Given the description of an element on the screen output the (x, y) to click on. 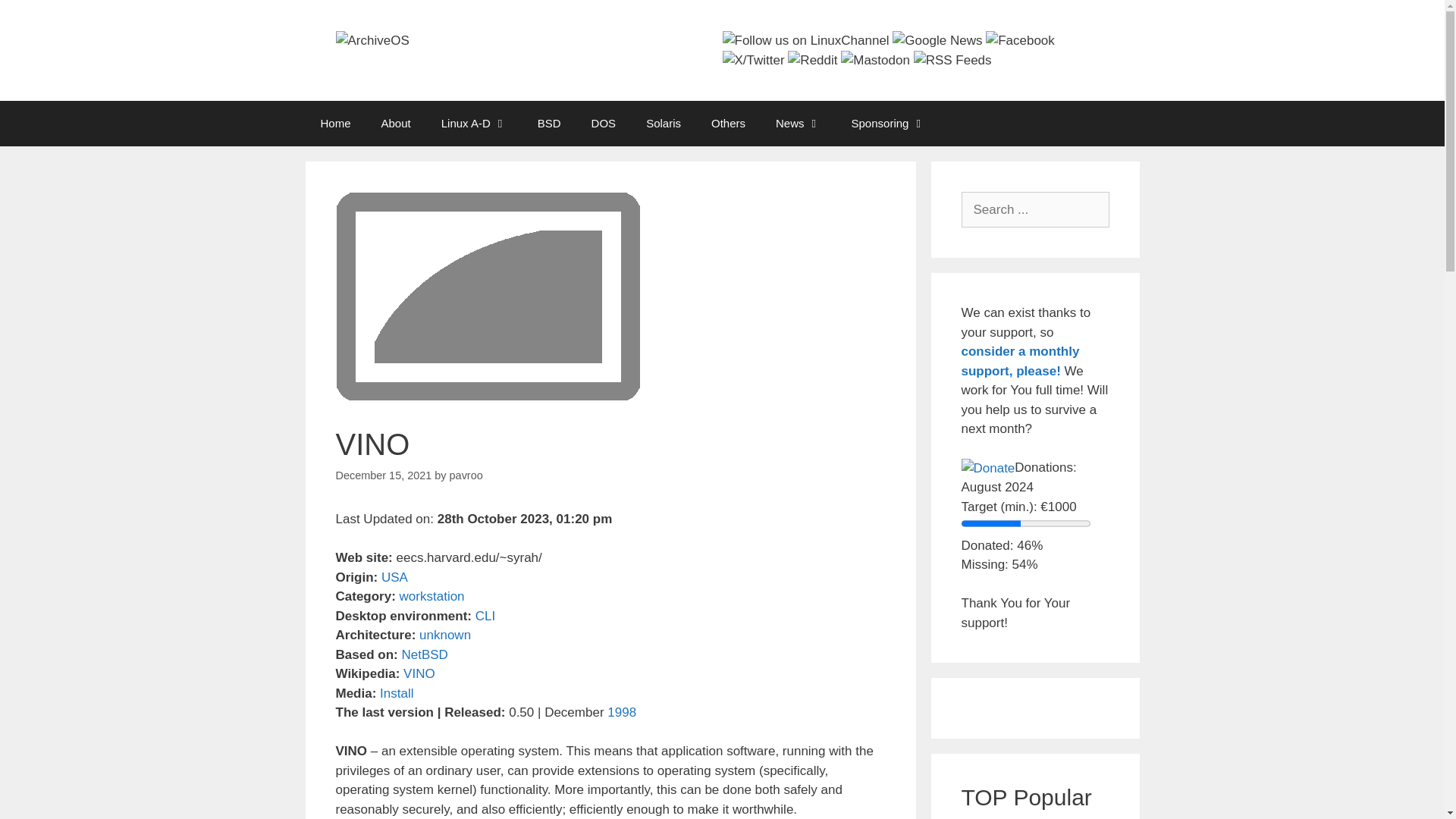
pavroo (466, 475)
DOS (603, 123)
Others (727, 123)
DOS (603, 123)
Google News (936, 40)
Home (334, 123)
BSD (549, 123)
Linux A-D (474, 123)
Home (334, 123)
Follow us on LinuxChannel (805, 40)
